Given the description of an element on the screen output the (x, y) to click on. 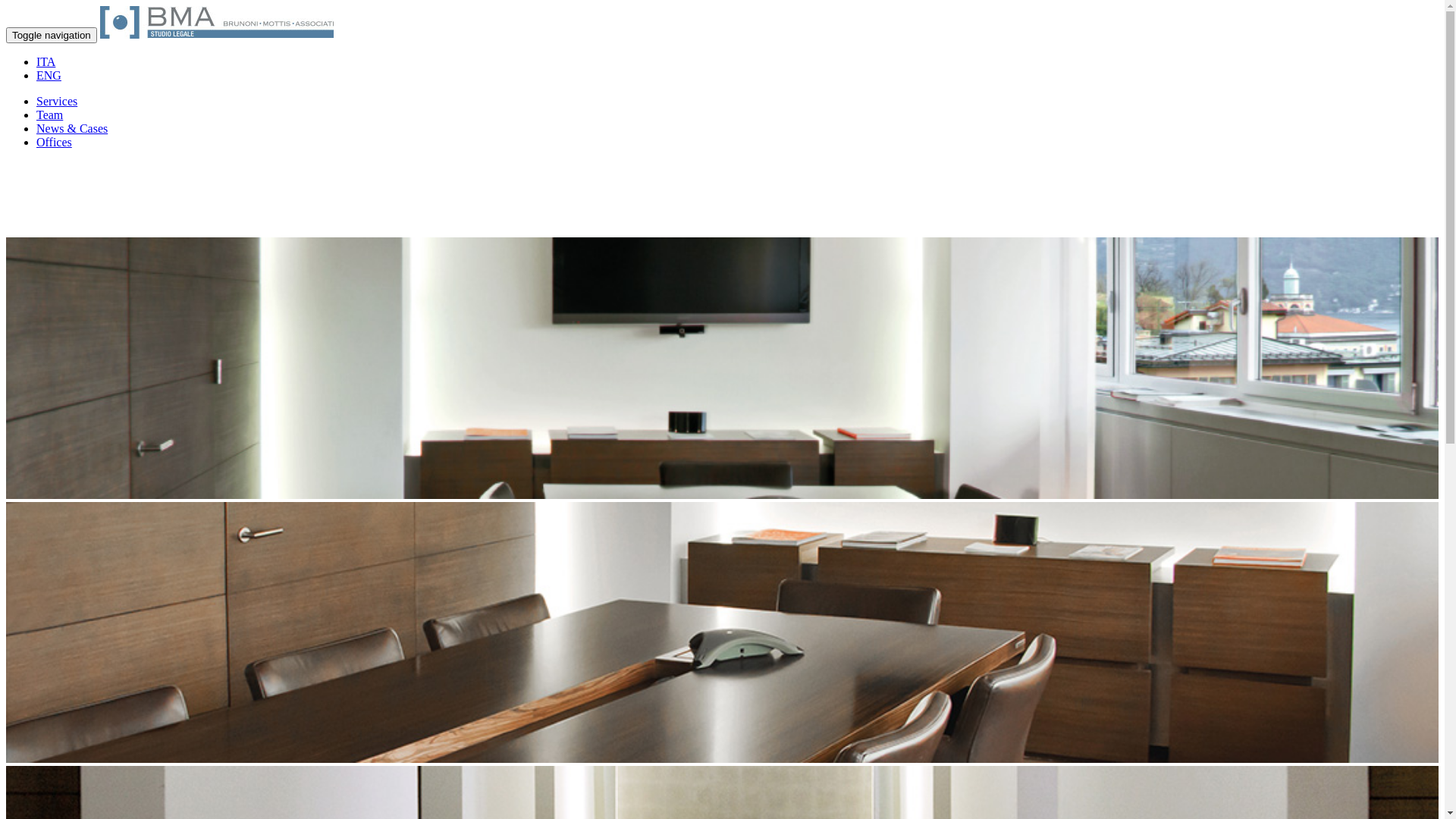
ENG Element type: text (48, 75)
News & Cases Element type: text (71, 128)
Team Element type: text (49, 114)
Services Element type: text (56, 100)
Offices Element type: text (54, 141)
Toggle navigation Element type: text (51, 35)
ITA Element type: text (45, 61)
